Given the description of an element on the screen output the (x, y) to click on. 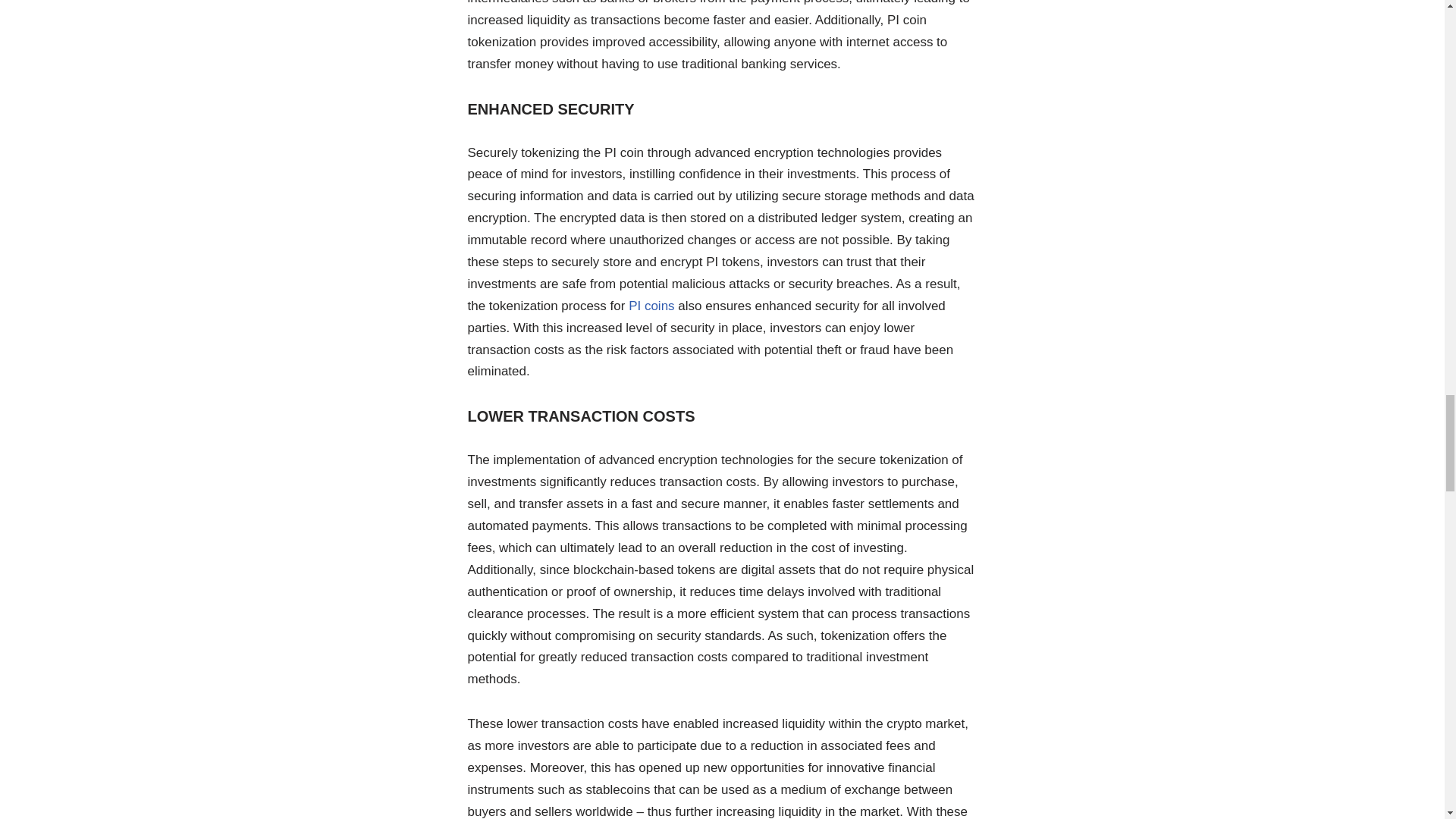
PI coins (651, 305)
PI coins (651, 305)
